Given the description of an element on the screen output the (x, y) to click on. 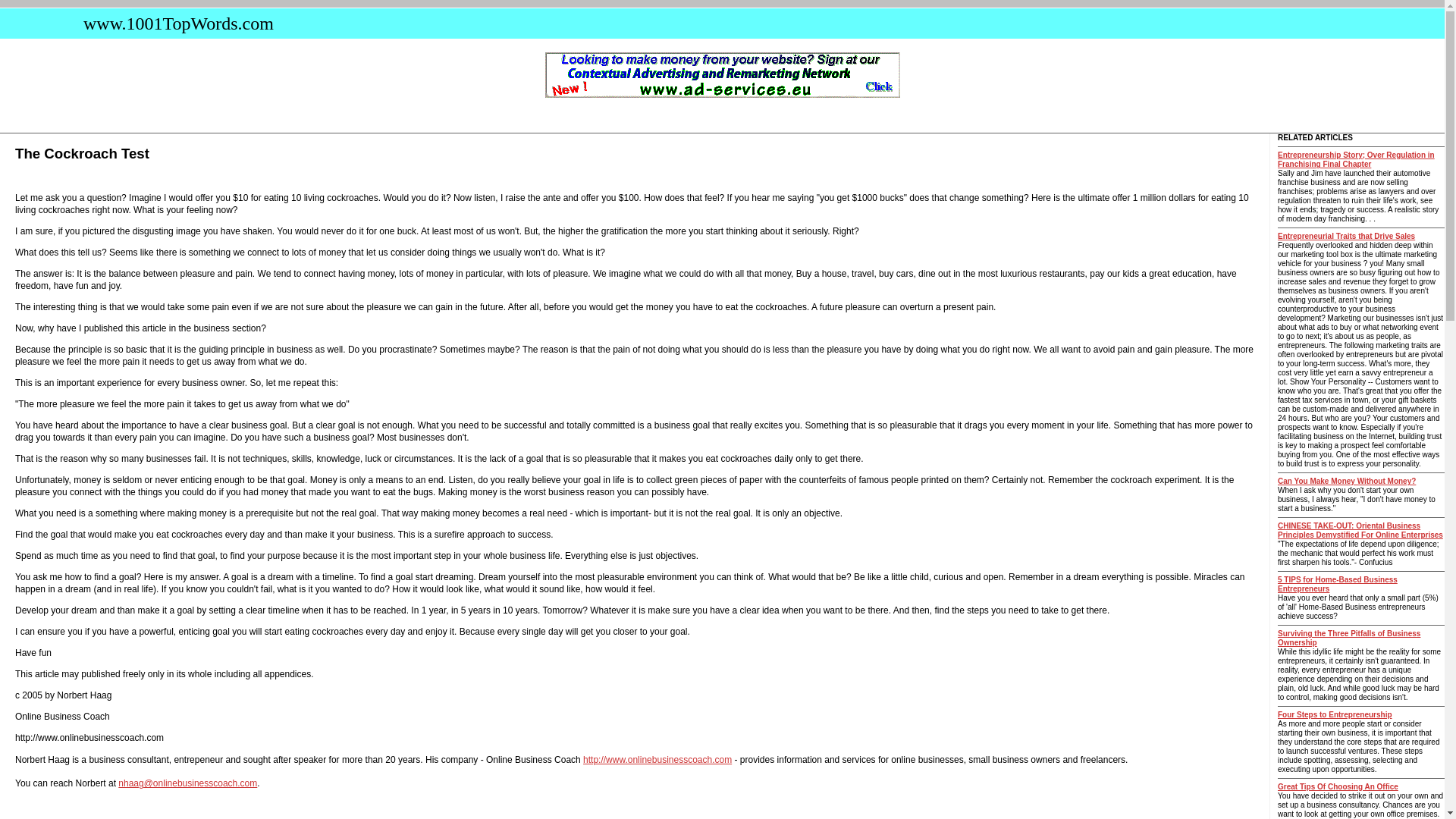
Entrepreneurial Traits that Drive Sales (1346, 235)
Can You Make Money Without Money? (1346, 480)
5 TIPS for Home-Based Business Entrepreneurs (1337, 583)
www.1001TopWords.com (174, 23)
Four Steps to Entrepreneurship (1334, 714)
Great Tips Of Choosing An Office (1337, 786)
Surviving the Three Pitfalls of Business Ownership (1349, 638)
